Given the description of an element on the screen output the (x, y) to click on. 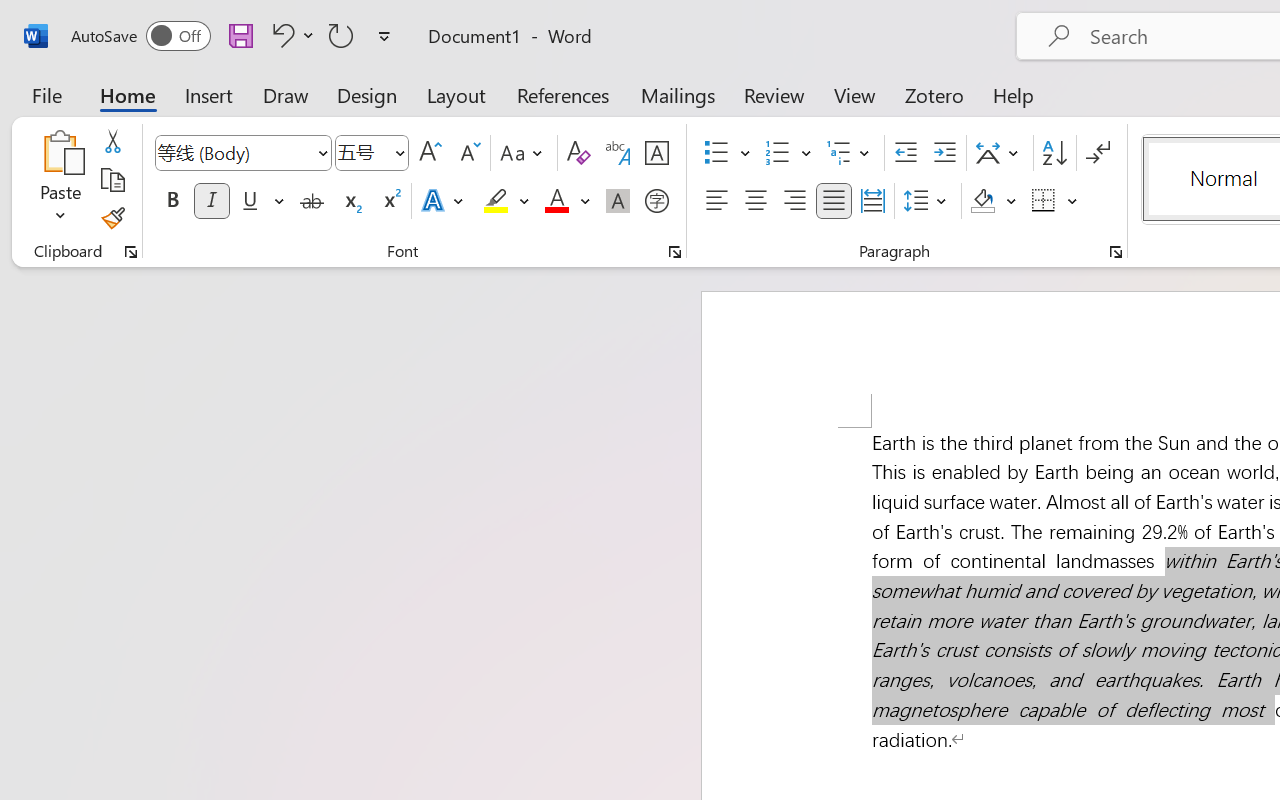
Show/Hide Editing Marks (1098, 153)
Format Painter (112, 218)
Bold (172, 201)
Line and Paragraph Spacing (927, 201)
Cut (112, 141)
Italic (212, 201)
Align Right (794, 201)
Paragraph... (1115, 252)
Strikethrough (312, 201)
Shrink Font (468, 153)
Phonetic Guide... (618, 153)
Distributed (872, 201)
